Given the description of an element on the screen output the (x, y) to click on. 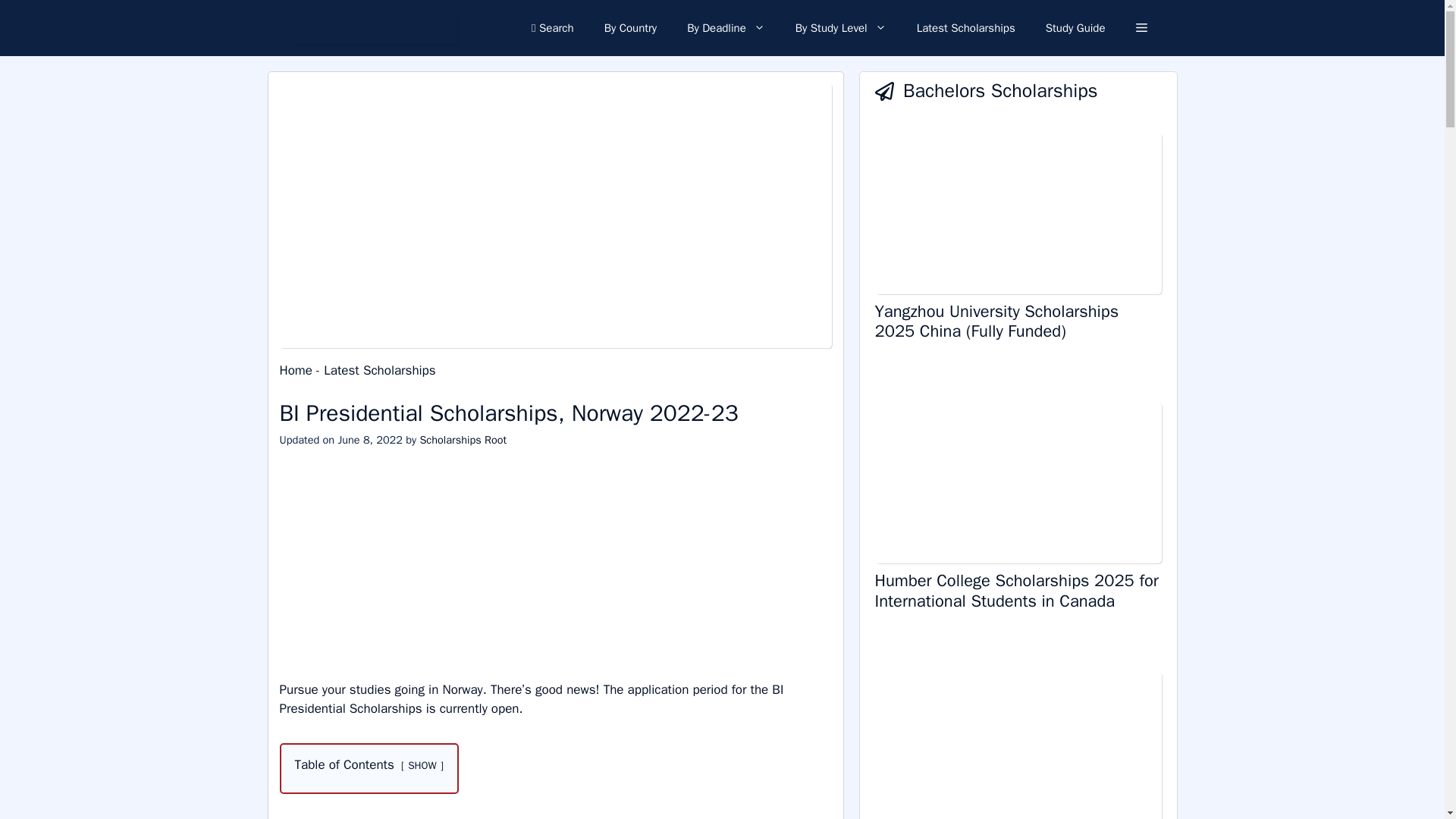
View all posts by Scholarships Root (462, 439)
By Country (630, 28)
By Study Level (840, 28)
Latest Scholarships (965, 28)
By Deadline (725, 28)
Study Guide (1075, 28)
